Given the description of an element on the screen output the (x, y) to click on. 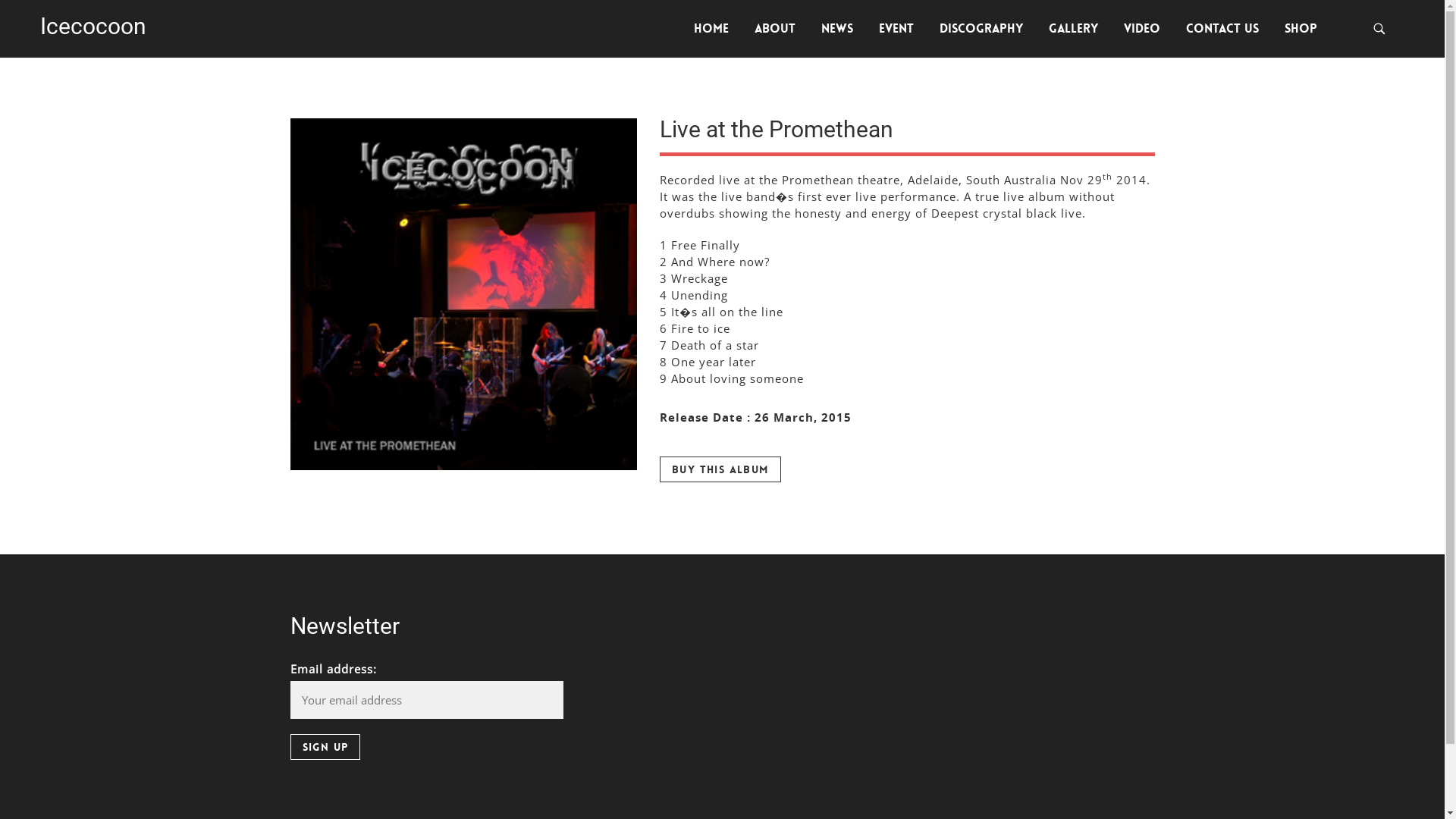
Icecocoon Element type: text (93, 25)
Sign up Element type: text (324, 746)
HOME Element type: text (711, 28)
GALLERY Element type: text (1073, 28)
VIDEO Element type: text (1141, 28)
BUY THIS ALBUM Element type: text (720, 469)
NEWS Element type: text (836, 28)
EVENT Element type: text (896, 28)
ABOUT Element type: text (774, 28)
DISCOGRAPHY Element type: text (981, 28)
CONTACT US Element type: text (1222, 28)
SHOP Element type: text (1300, 28)
